Given the description of an element on the screen output the (x, y) to click on. 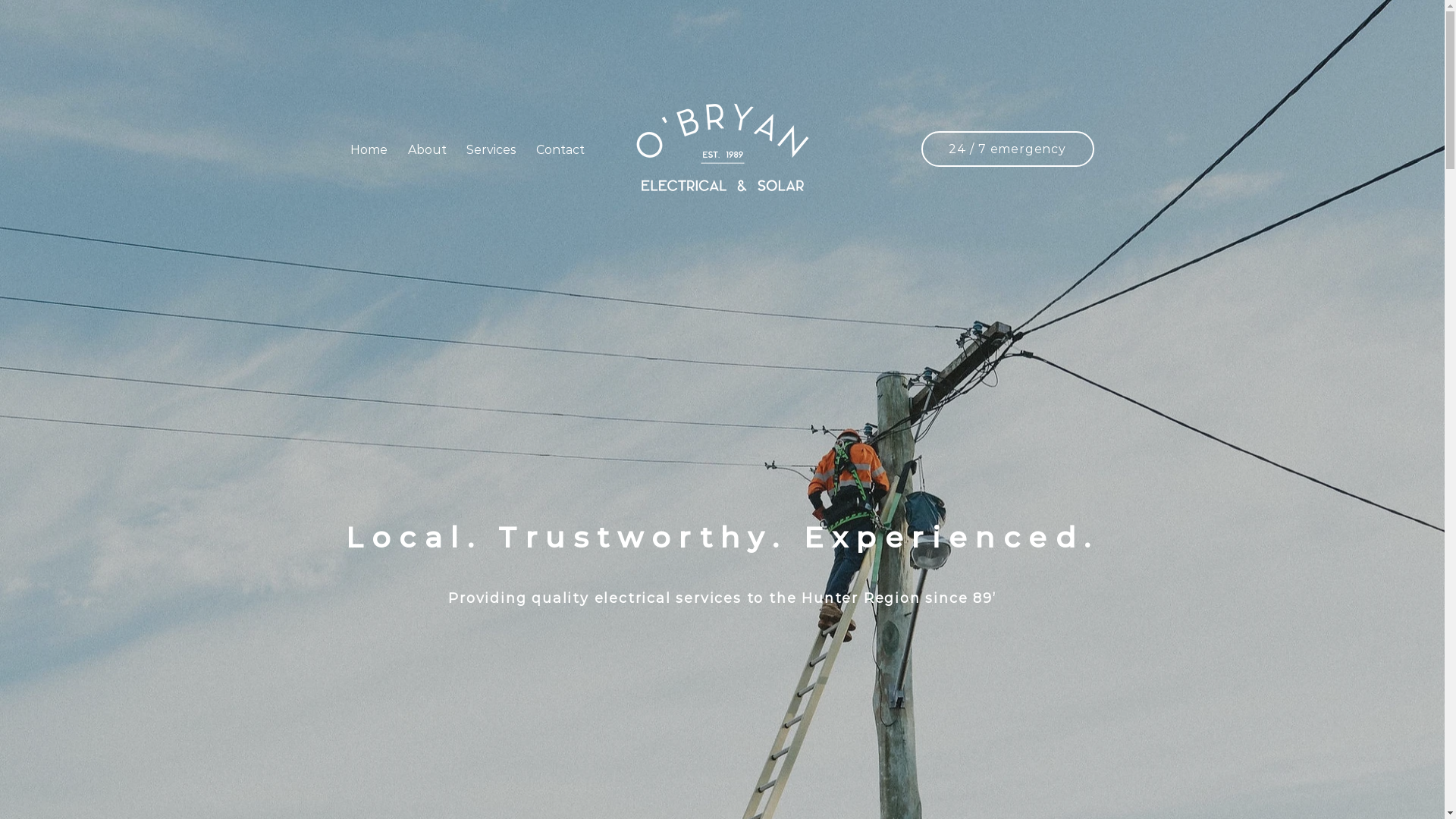
About Element type: text (426, 149)
Home Element type: text (368, 149)
Contact Element type: text (560, 149)
24 / 7 emergency Element type: text (1006, 148)
